Given the description of an element on the screen output the (x, y) to click on. 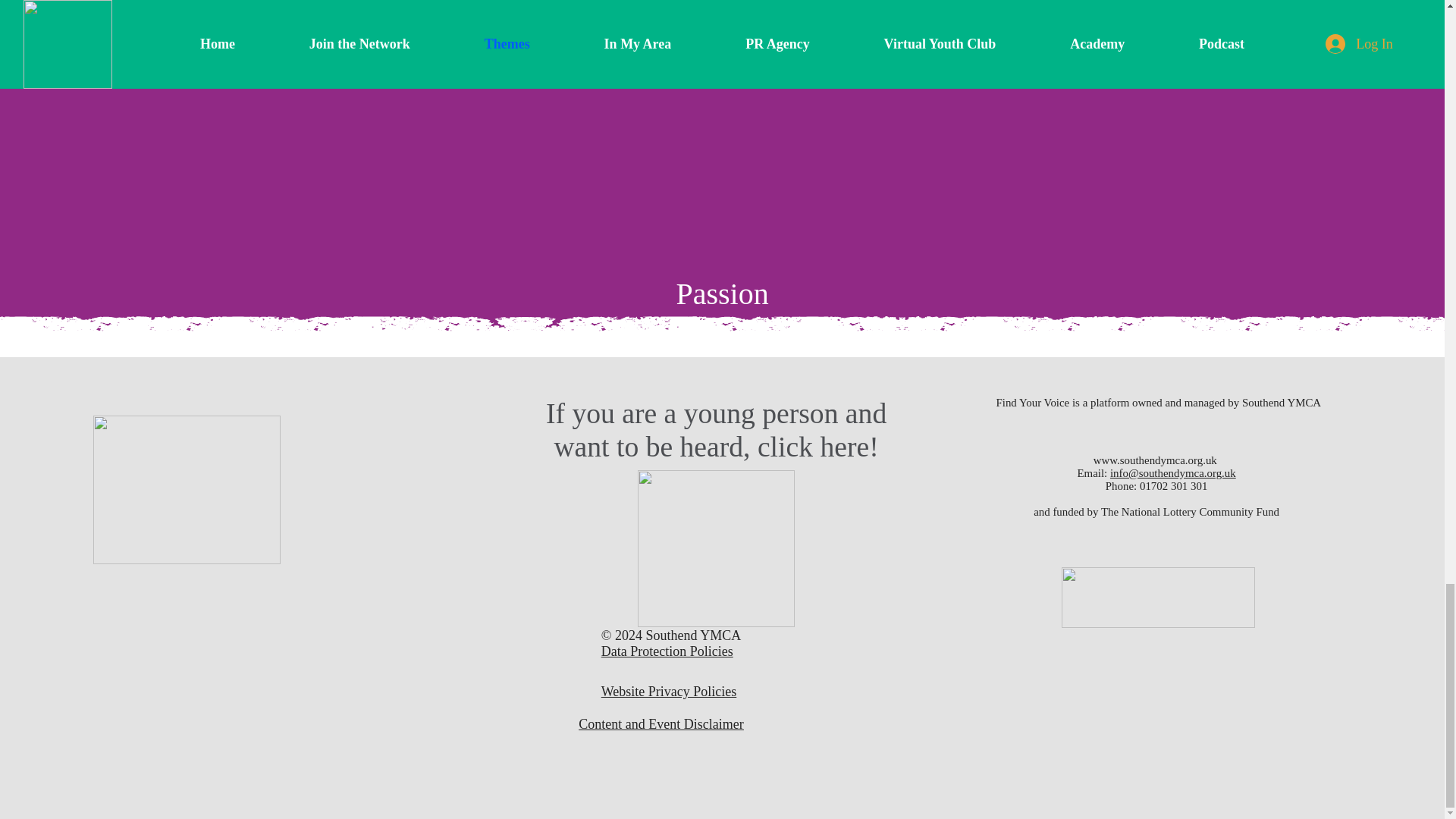
Website Privacy Policies (668, 691)
Data Protection Policies  (668, 651)
Content and Event Disclaimer (660, 724)
Passion (721, 293)
www.southendymca.org.uk (1155, 460)
If you are a young person and want to be heard, click here! (716, 429)
